Given the description of an element on the screen output the (x, y) to click on. 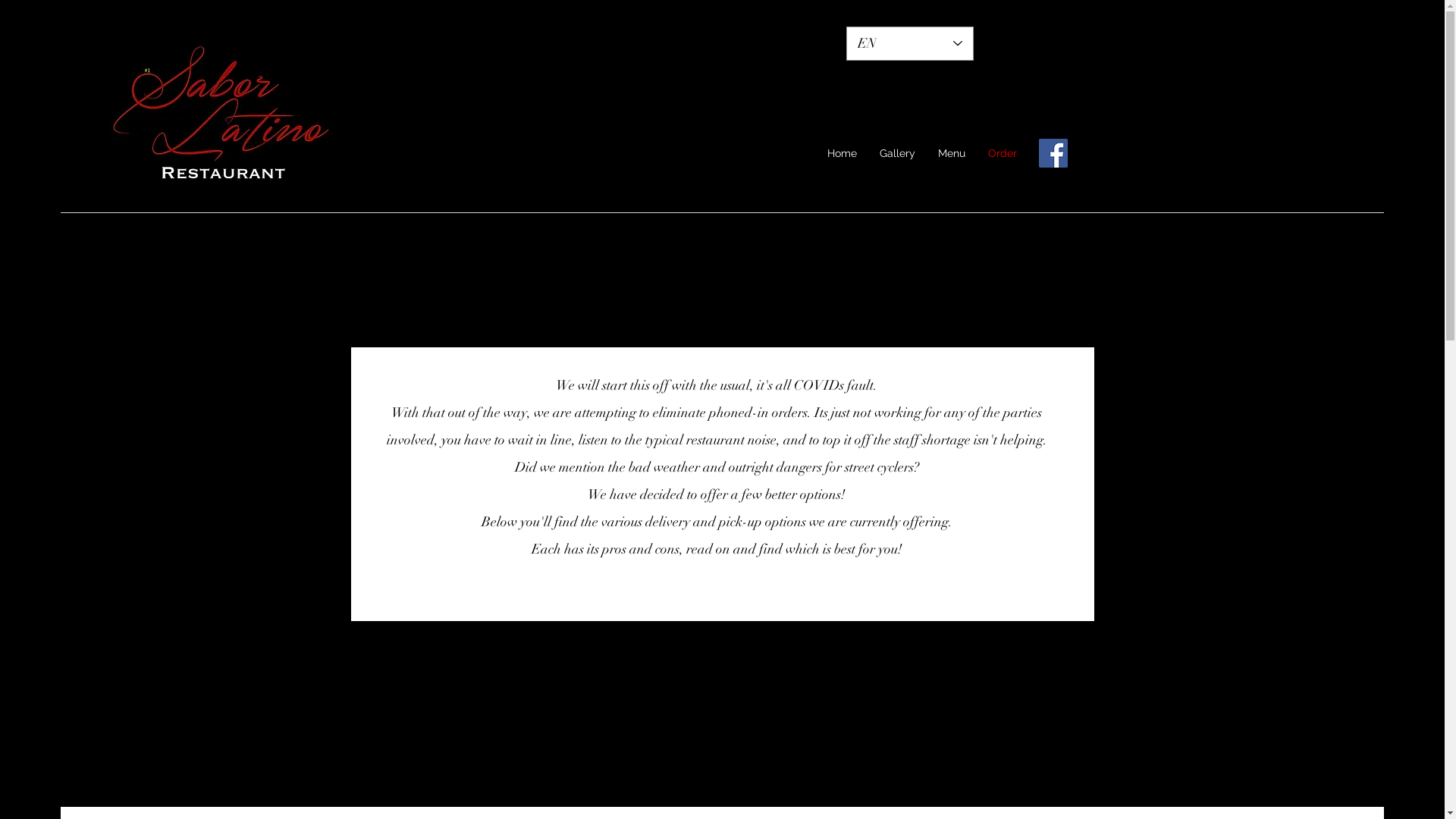
Home Element type: text (841, 153)
Menu Element type: text (951, 153)
Order Element type: text (1002, 153)
Gallery Element type: text (897, 153)
